Given the description of an element on the screen output the (x, y) to click on. 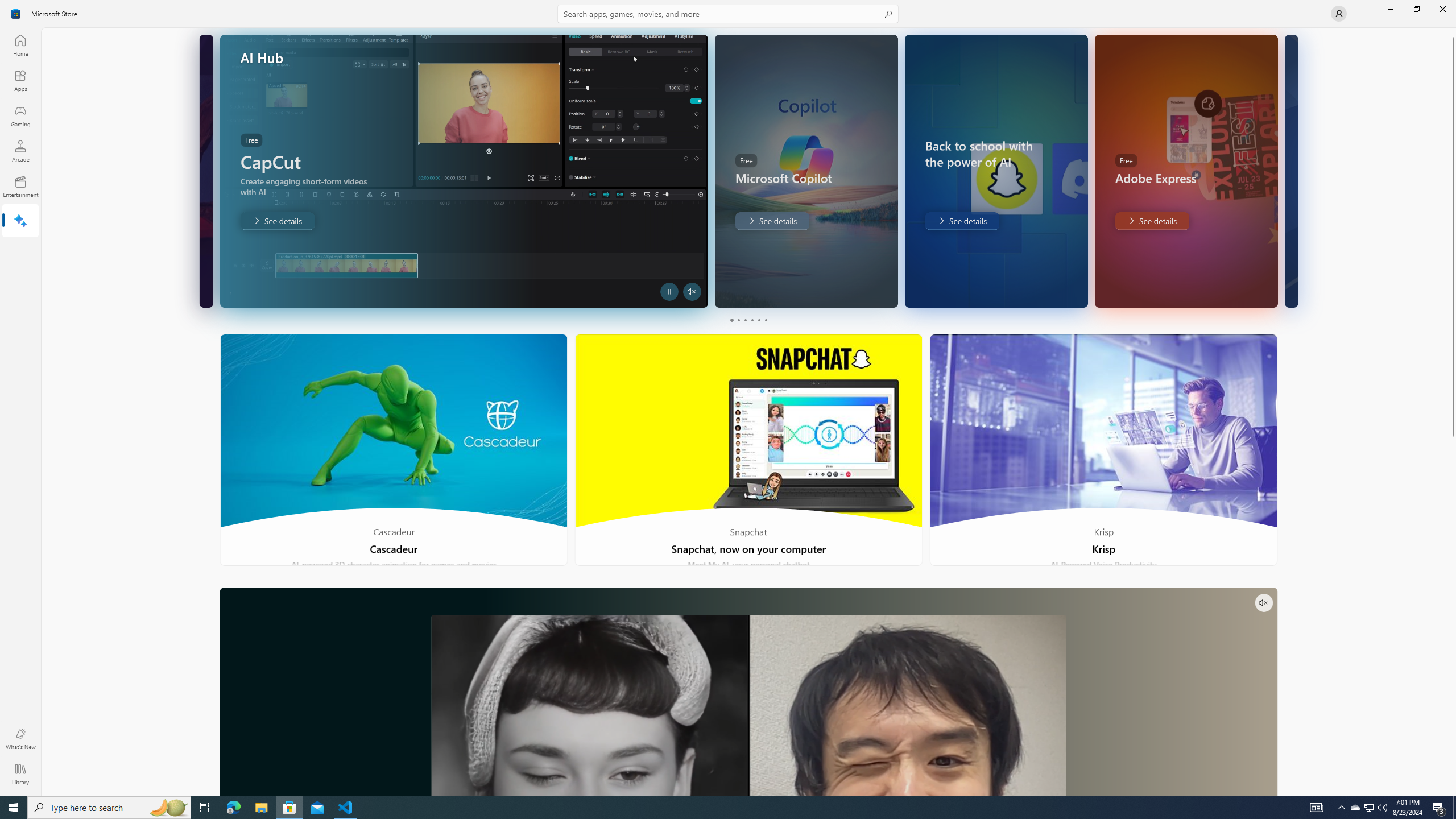
Home (20, 45)
Vertical Small Increase (1452, 792)
Vertical (1452, 412)
Cascadeur (393, 449)
AutomationID: Image (1295, 170)
Pager (748, 319)
Minimize Microsoft Store (1390, 9)
Page 5 (758, 319)
Library (20, 773)
Apps (20, 80)
Restore Microsoft Store (1416, 9)
Vertical Small Decrease (1452, 31)
Page 6 (764, 319)
